Given the description of an element on the screen output the (x, y) to click on. 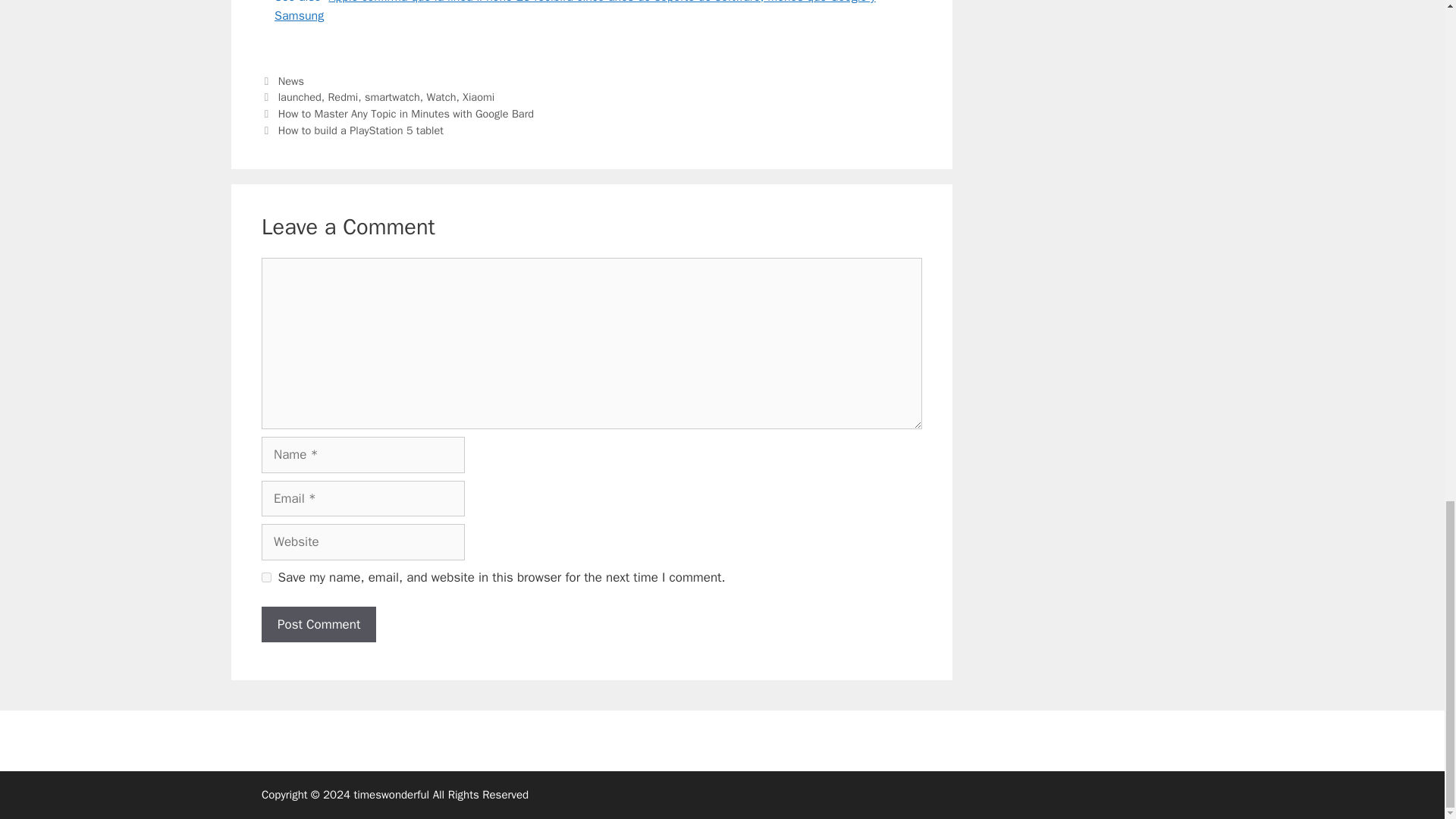
smartwatch (392, 97)
News (291, 80)
Post Comment (318, 624)
Scroll back to top (1406, 227)
Post Comment (318, 624)
yes (266, 577)
Watch (440, 97)
timeswonderful (391, 794)
launched (299, 97)
Redmi (342, 97)
